Given the description of an element on the screen output the (x, y) to click on. 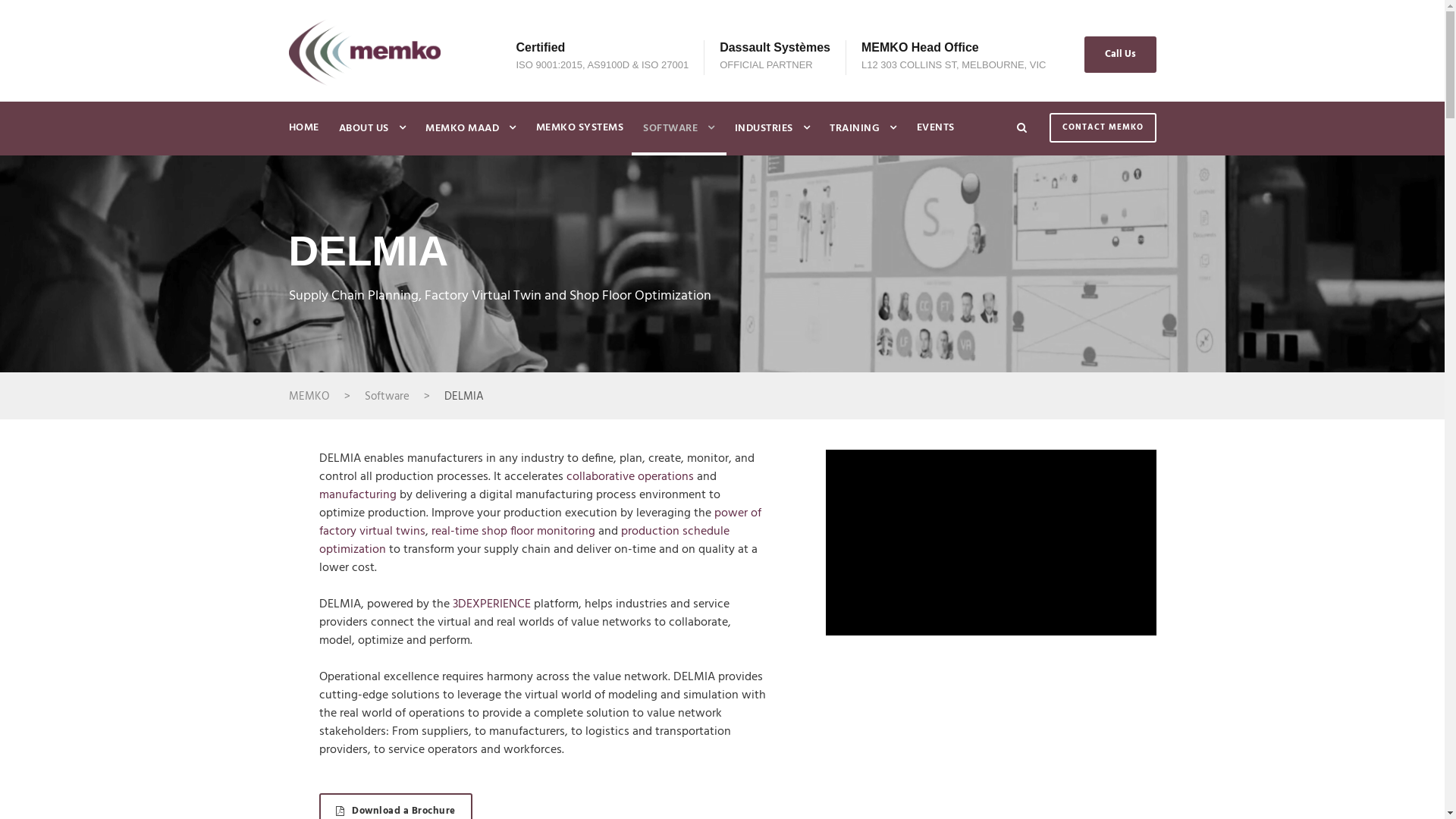
EVENTS Element type: text (934, 136)
CONTACT MEMKO Element type: text (1102, 127)
MEMKO MAAD Element type: text (470, 137)
production schedule optimization Element type: text (523, 540)
collaborative operations Element type: text (629, 476)
real-time shop floor monitoring Element type: text (512, 531)
TRAINING Element type: text (863, 137)
Call Us Element type: text (1120, 54)
MEMKO Element type: text (308, 396)
MEMKO logo Element type: hover (363, 51)
SOFTWARE Element type: text (679, 137)
HOME Element type: text (303, 136)
MEMKO SYSTEMS Element type: text (579, 136)
power of factory virtual twins Element type: text (539, 522)
manufacturing Element type: text (356, 495)
INDUSTRIES Element type: text (771, 137)
3DEXPERIENCE  Element type: text (492, 604)
Software Element type: text (386, 396)
ABOUT US Element type: text (371, 137)
